Given the description of an element on the screen output the (x, y) to click on. 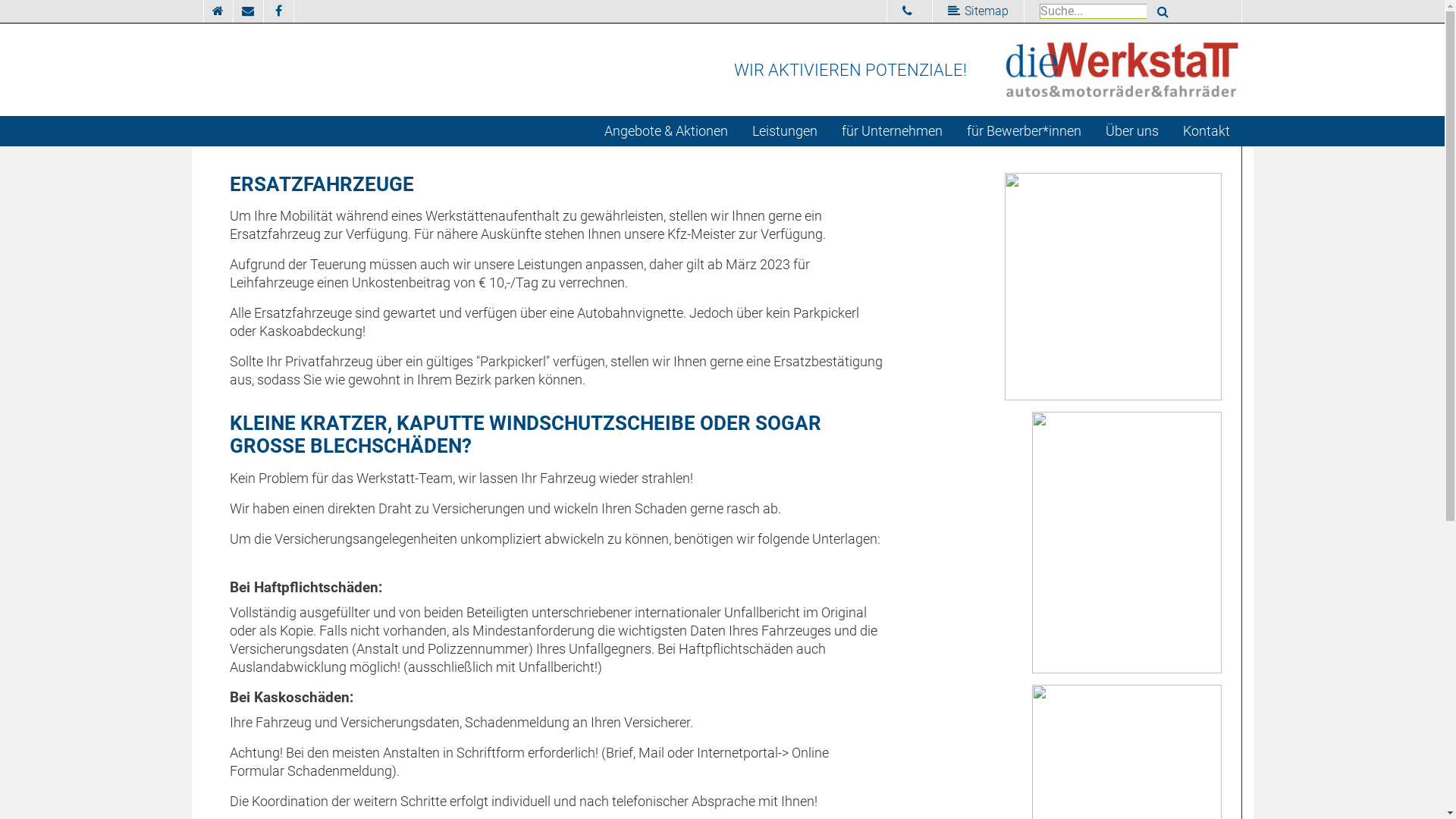
Angebote & Aktionen Element type: text (665, 131)
Leistungen Element type: text (784, 131)
Sitemap Element type: text (978, 11)
Kontakt Element type: text (1206, 131)
